Given the description of an element on the screen output the (x, y) to click on. 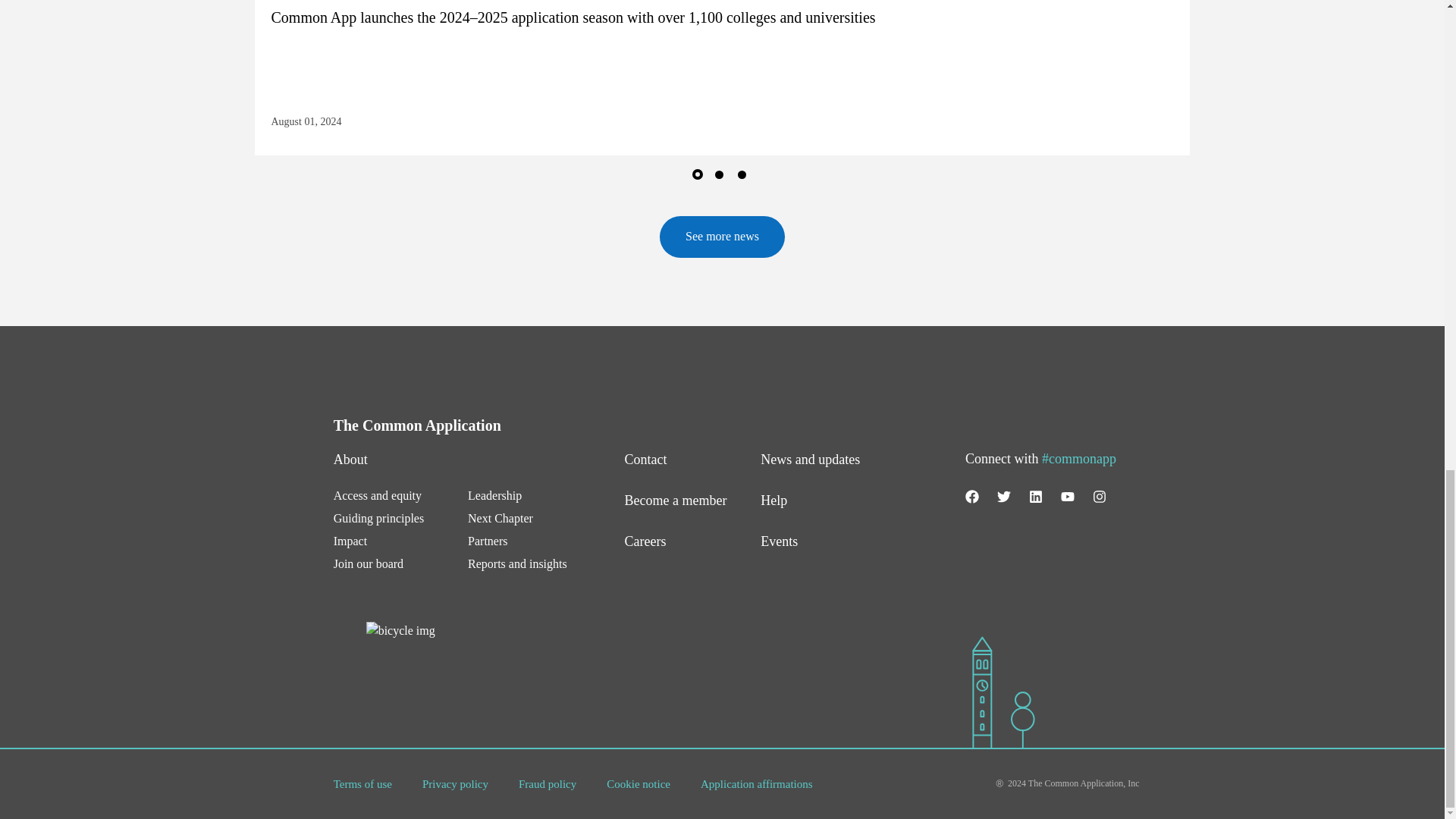
3 (744, 177)
Impact (349, 540)
Twitter icon (1003, 496)
Next Chapter (502, 517)
2 (721, 177)
Instagram icon (1099, 496)
Facebook icon (971, 496)
LinkedIn icon (1035, 496)
Join our board (368, 563)
Access and equity (377, 495)
